Given the description of an element on the screen output the (x, y) to click on. 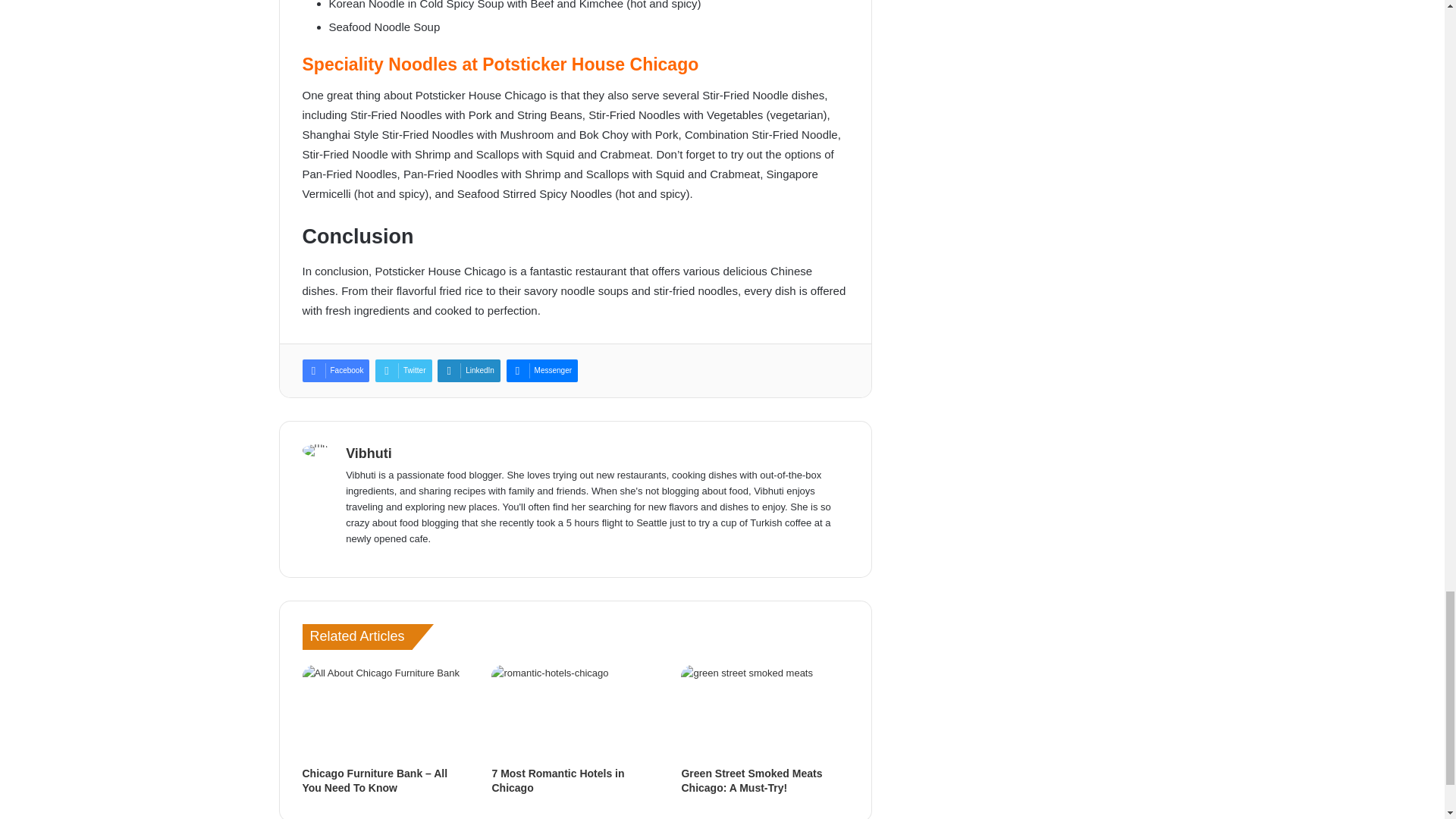
LinkedIn (469, 370)
Green Street Smoked Meats Chicago: A Must-Try! (751, 780)
Twitter (402, 370)
Facebook (335, 370)
7 Most Romantic Hotels in Chicago (558, 780)
Messenger (542, 370)
Vibhuti (368, 453)
LinkedIn (469, 370)
Twitter (402, 370)
Messenger (542, 370)
